Given the description of an element on the screen output the (x, y) to click on. 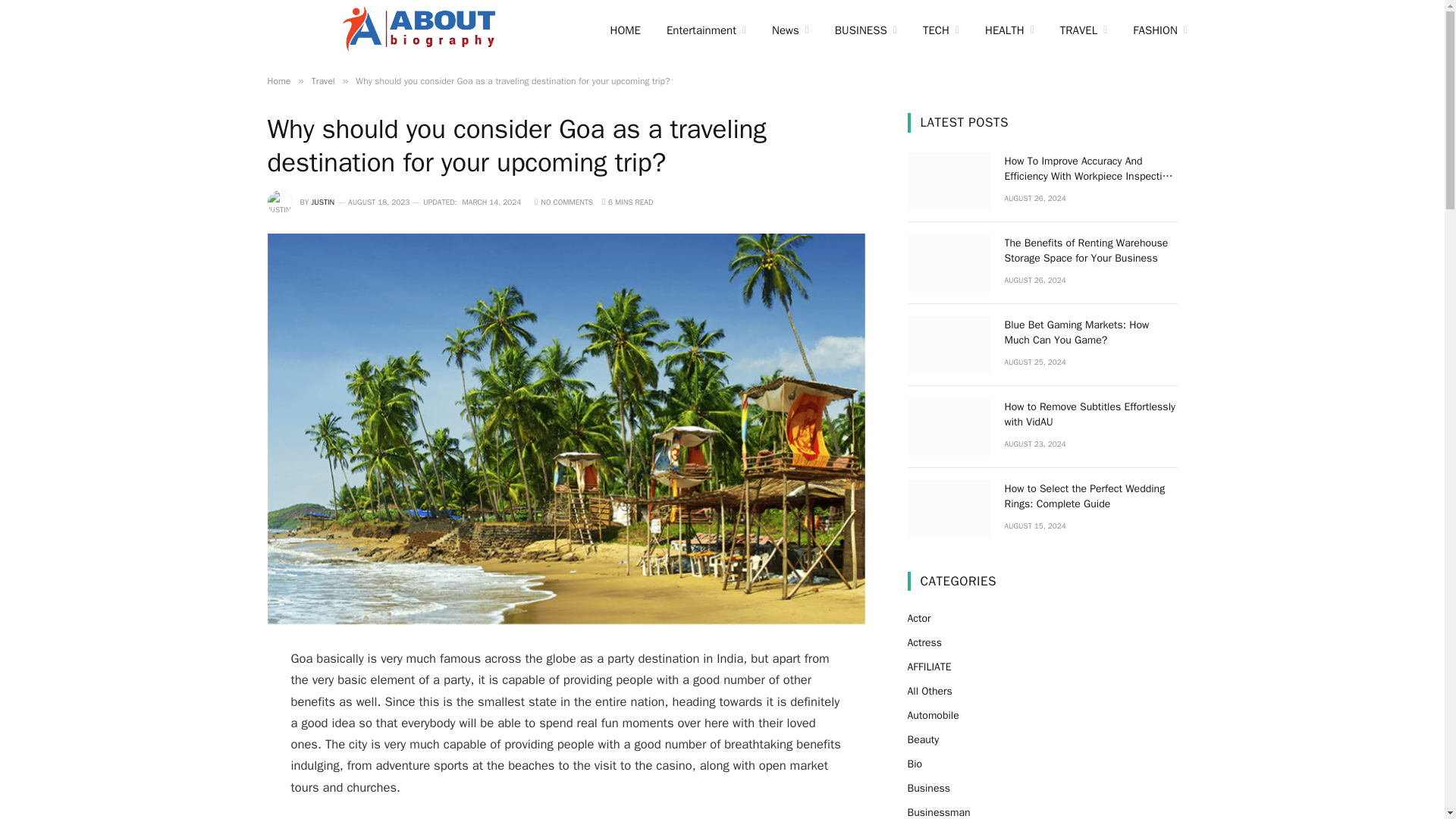
BUSINESS (866, 30)
Aboutbiography (418, 31)
HOME (624, 30)
News (790, 30)
Entertainment (705, 30)
